Given the description of an element on the screen output the (x, y) to click on. 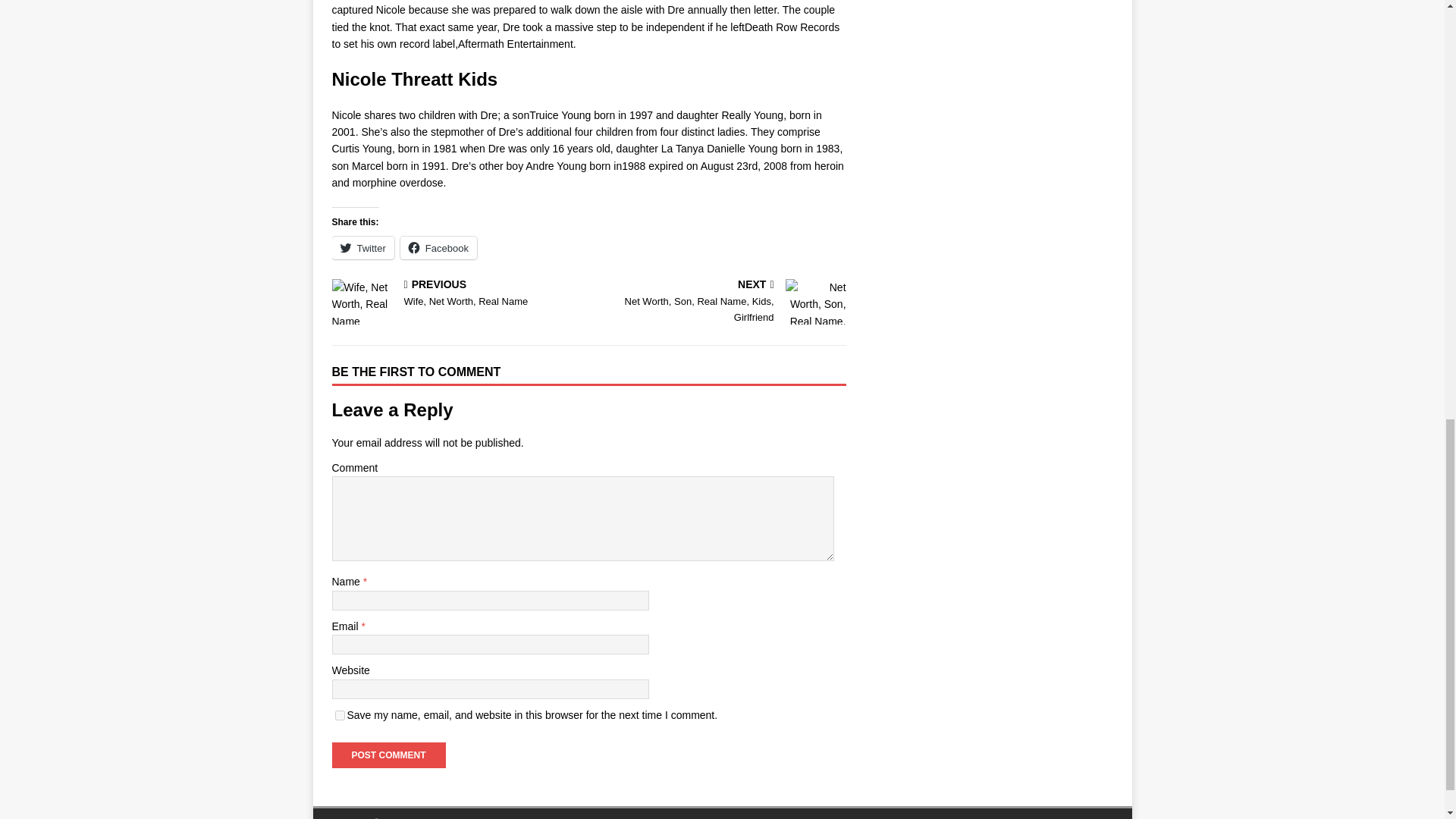
Click to share on Facebook (438, 247)
yes (339, 715)
Post Comment (388, 755)
Post Comment (457, 294)
Facebook (388, 755)
Click to share on Twitter (438, 247)
Twitter (720, 302)
